Given the description of an element on the screen output the (x, y) to click on. 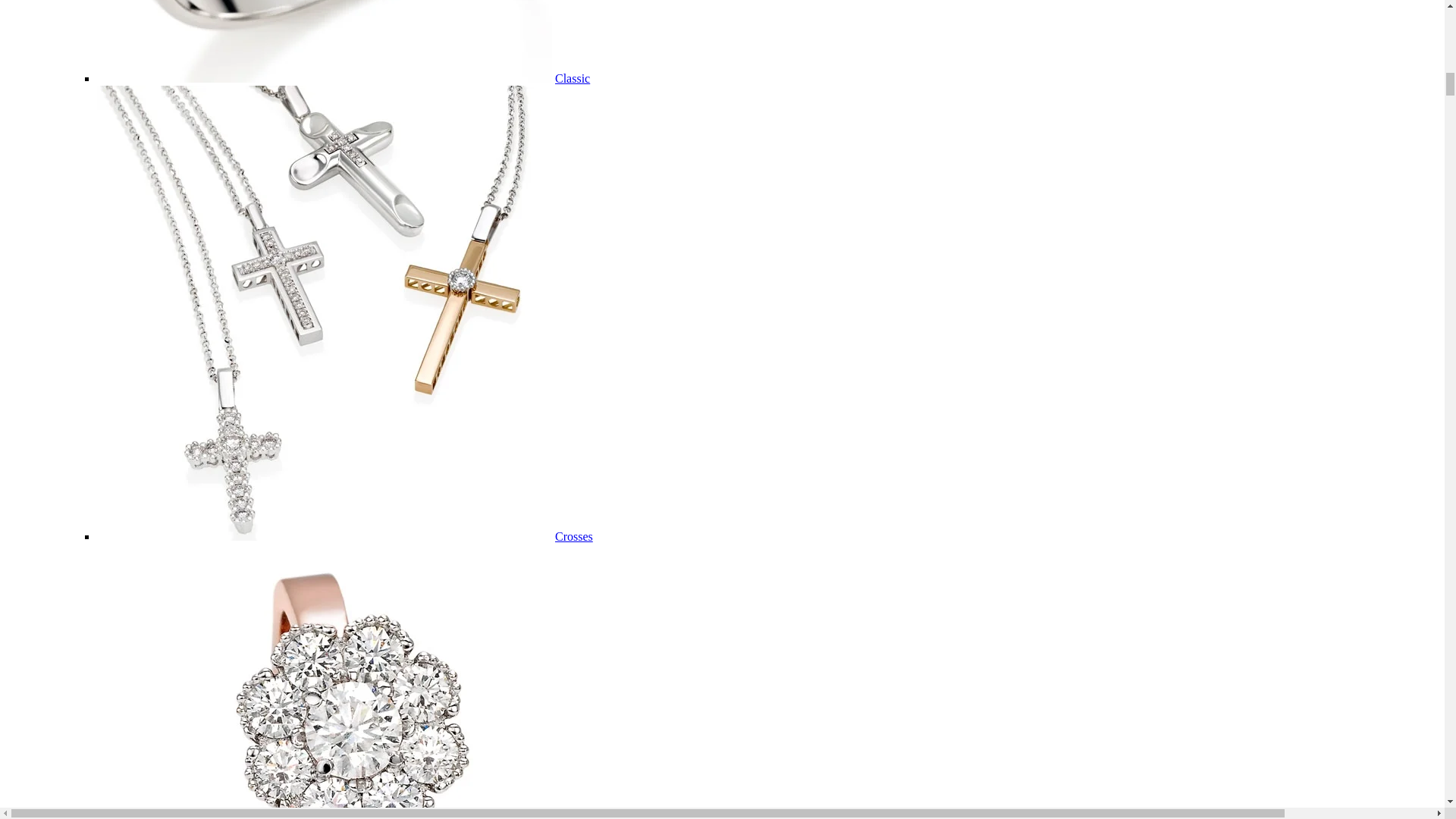
Classic (571, 78)
Crosses (573, 535)
